Given the description of an element on the screen output the (x, y) to click on. 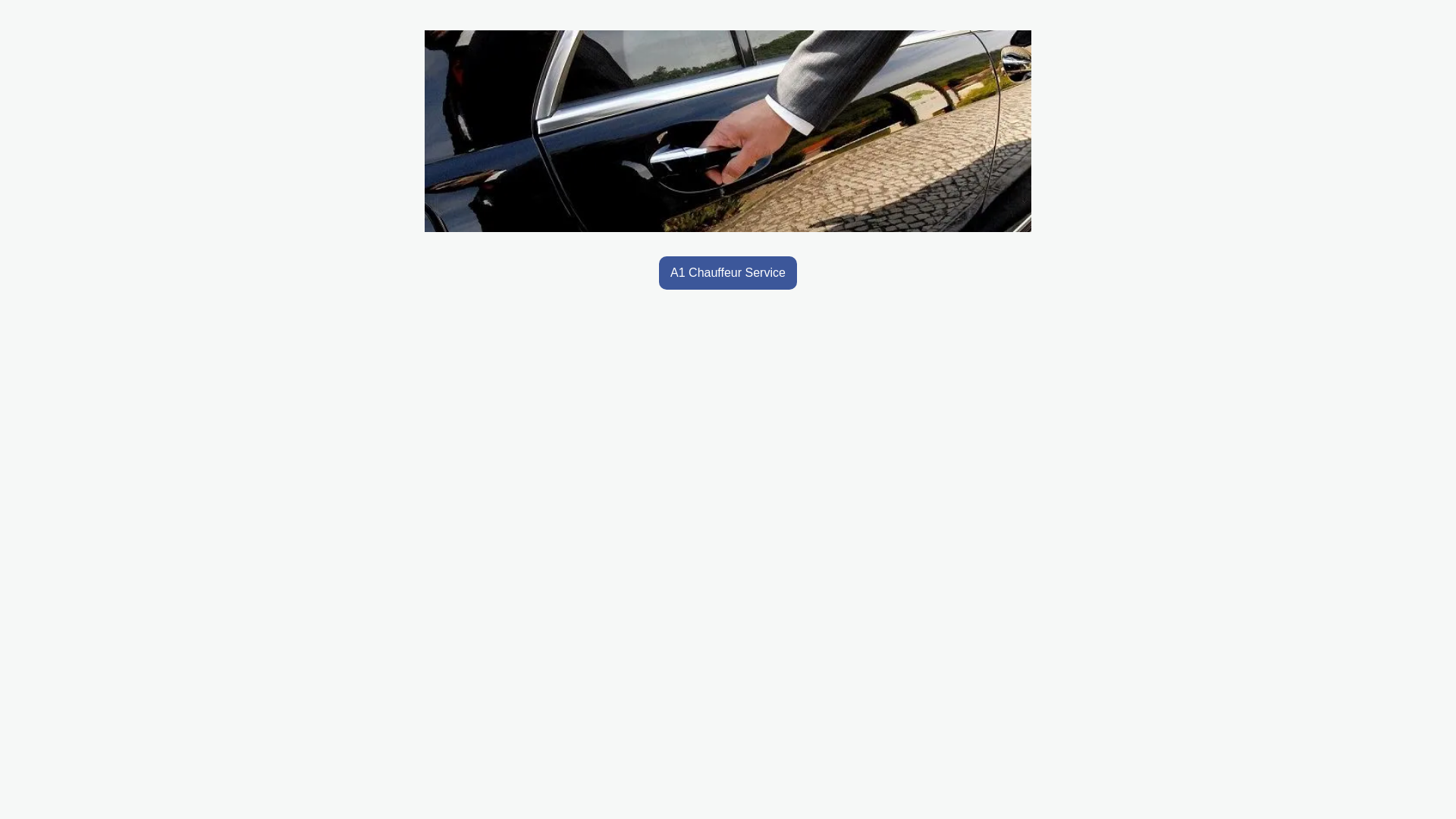
A1 Chauffeur Service Element type: text (727, 272)
